Given the description of an element on the screen output the (x, y) to click on. 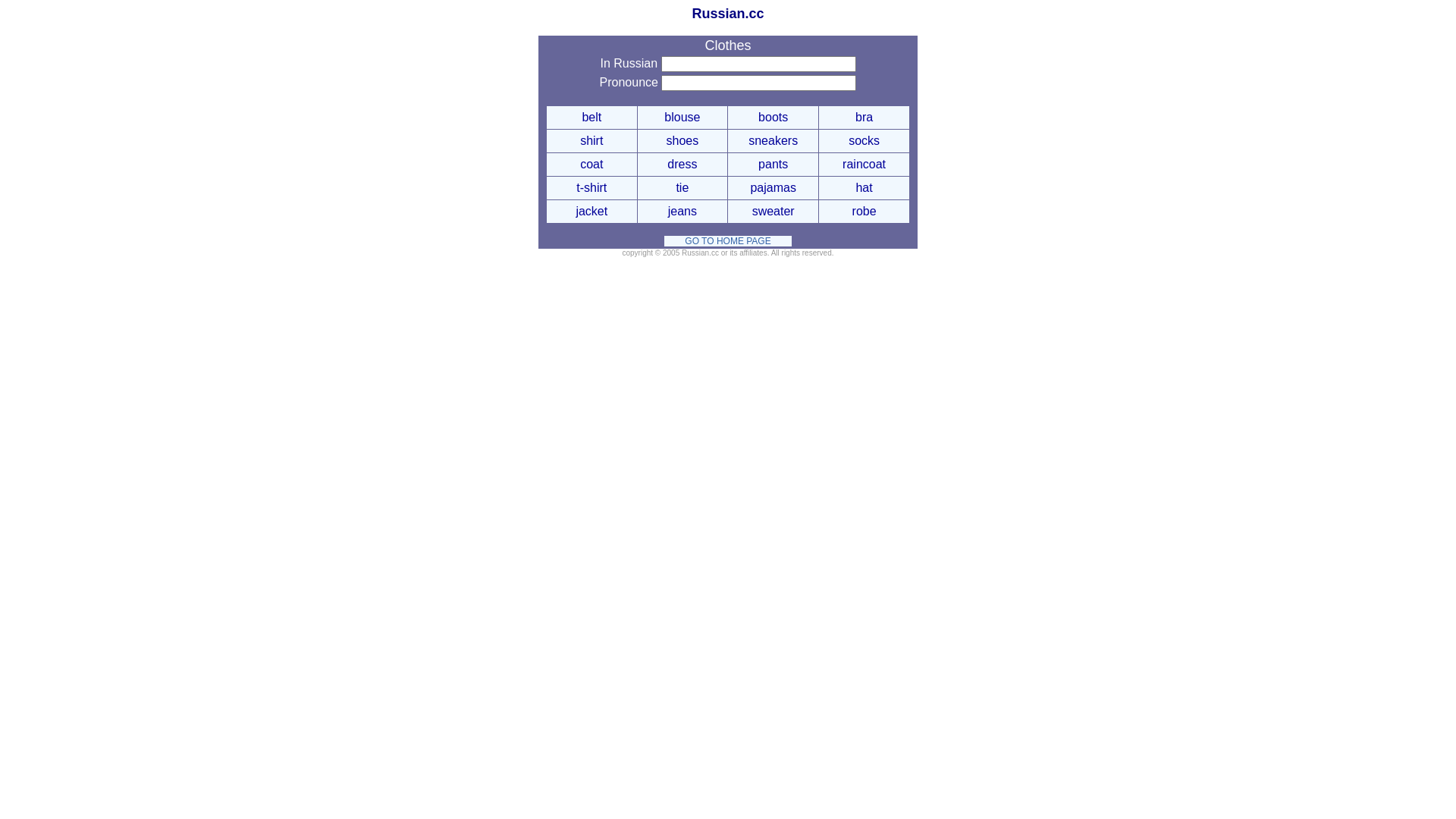
coat Element type: text (591, 165)
hat Element type: text (863, 188)
jacket Element type: text (591, 212)
pants Element type: text (772, 165)
sneakers Element type: text (772, 141)
boots Element type: text (772, 117)
shirt Element type: text (591, 141)
tie Element type: text (681, 188)
t-shirt Element type: text (591, 188)
sweater Element type: text (773, 212)
socks Element type: text (863, 141)
robe Element type: text (864, 212)
jeans Element type: text (682, 212)
shoes Element type: text (682, 141)
pajamas Element type: text (772, 188)
dress Element type: text (681, 165)
belt Element type: text (591, 117)
raincoat Element type: text (863, 165)
blouse Element type: text (681, 117)
bra Element type: text (863, 117)
GO TO HOME PAGE Element type: text (727, 240)
